Given the description of an element on the screen output the (x, y) to click on. 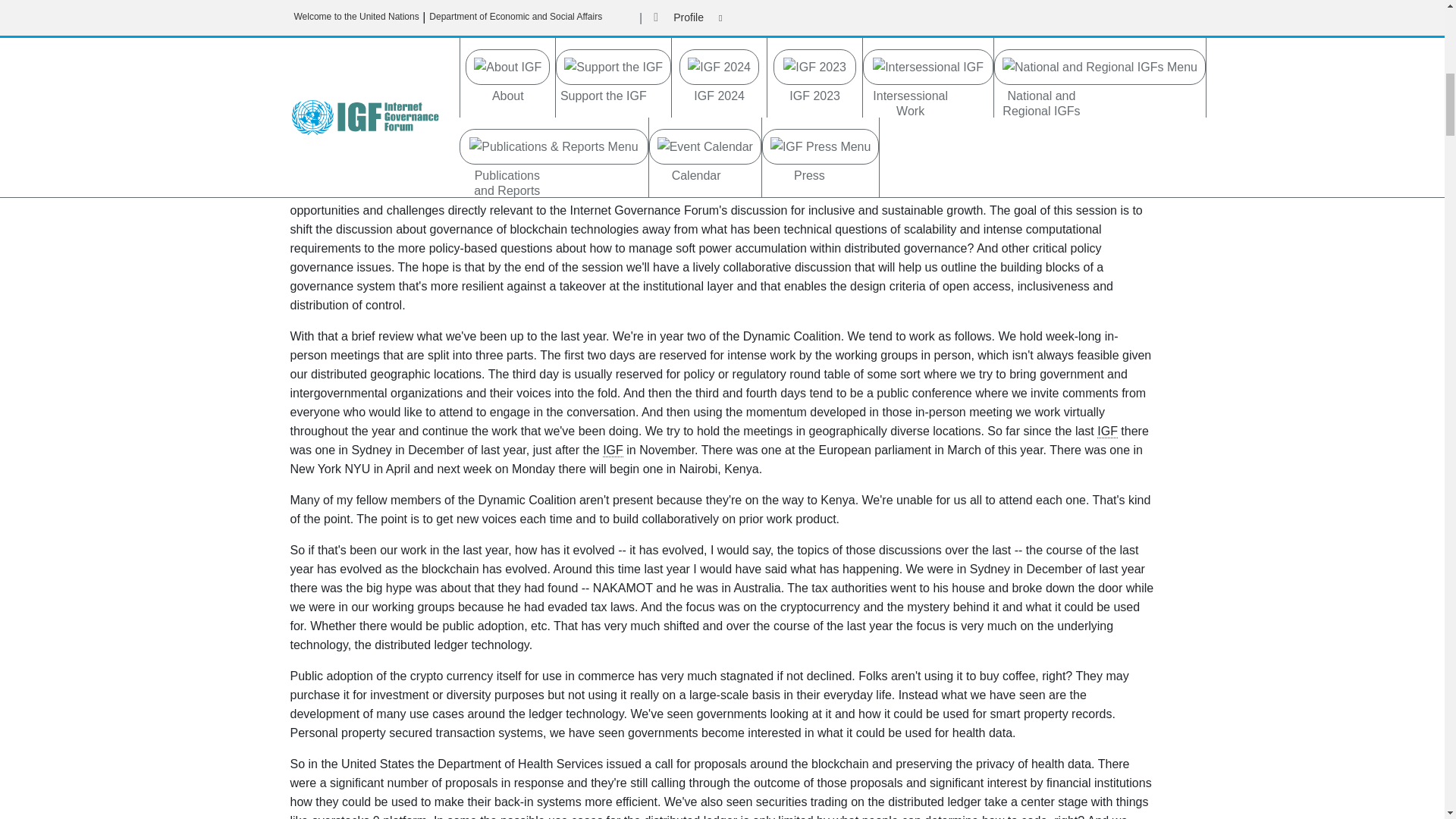
Internet Governance Forum  (612, 450)
Internet Governance Forum  (1107, 431)
